Given the description of an element on the screen output the (x, y) to click on. 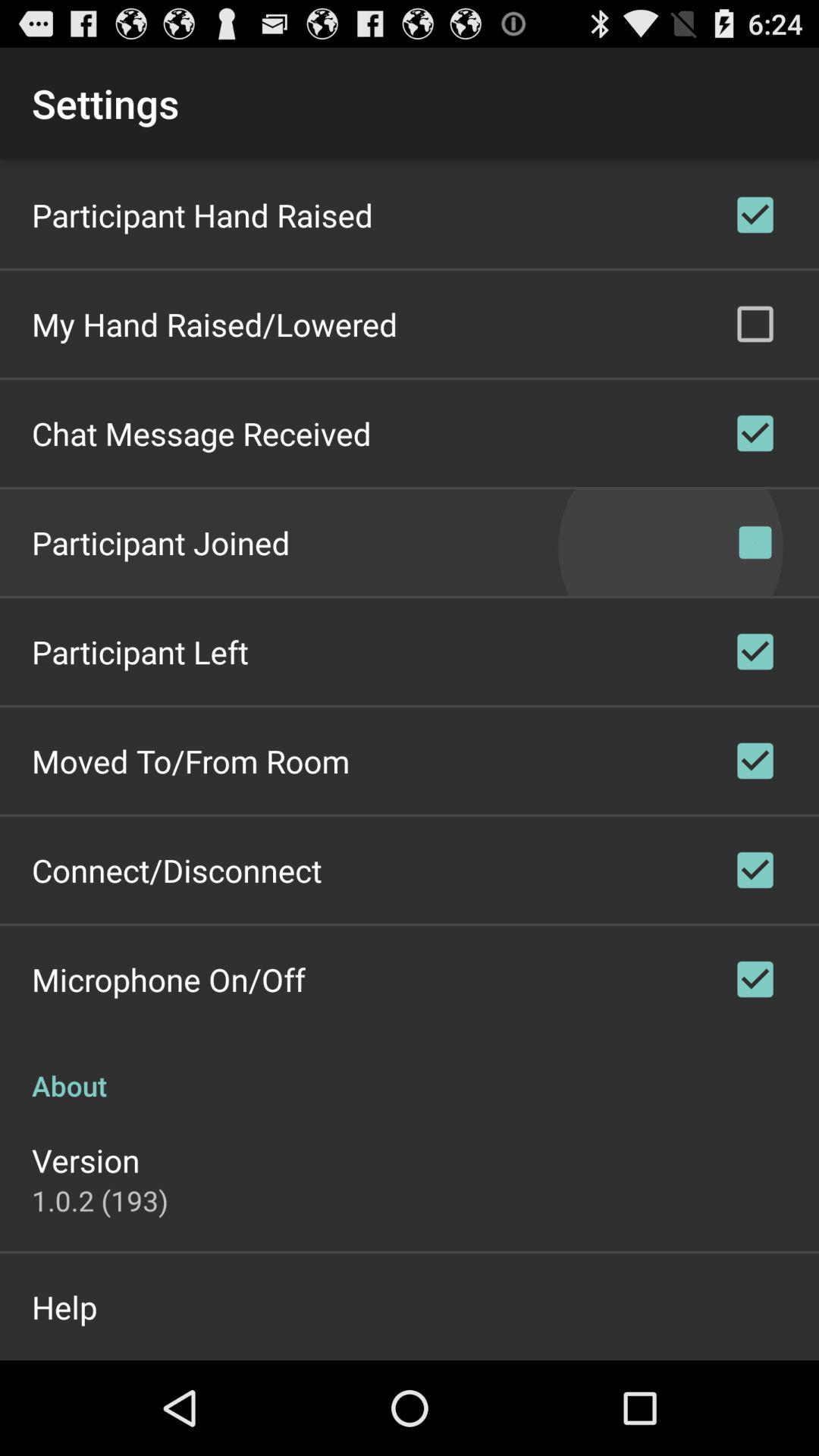
click item above participant joined item (201, 433)
